Given the description of an element on the screen output the (x, y) to click on. 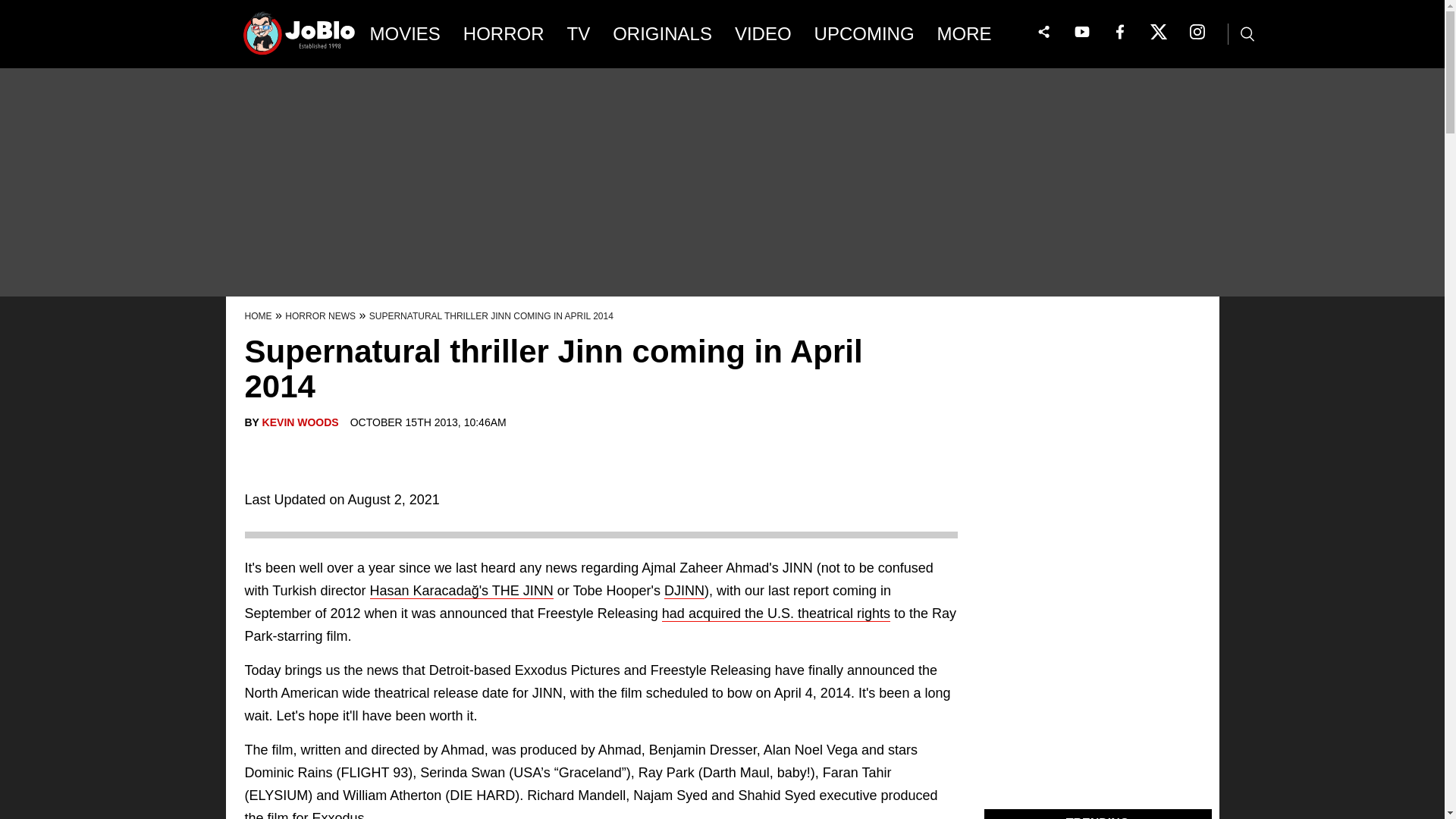
MORE (976, 34)
UPCOMING (863, 34)
HORROR (503, 34)
MOVIES (405, 34)
TV (578, 34)
JoBlo Logo (299, 38)
Go (13, 7)
VIDEO (762, 34)
ORIGINALS (662, 34)
